Given the description of an element on the screen output the (x, y) to click on. 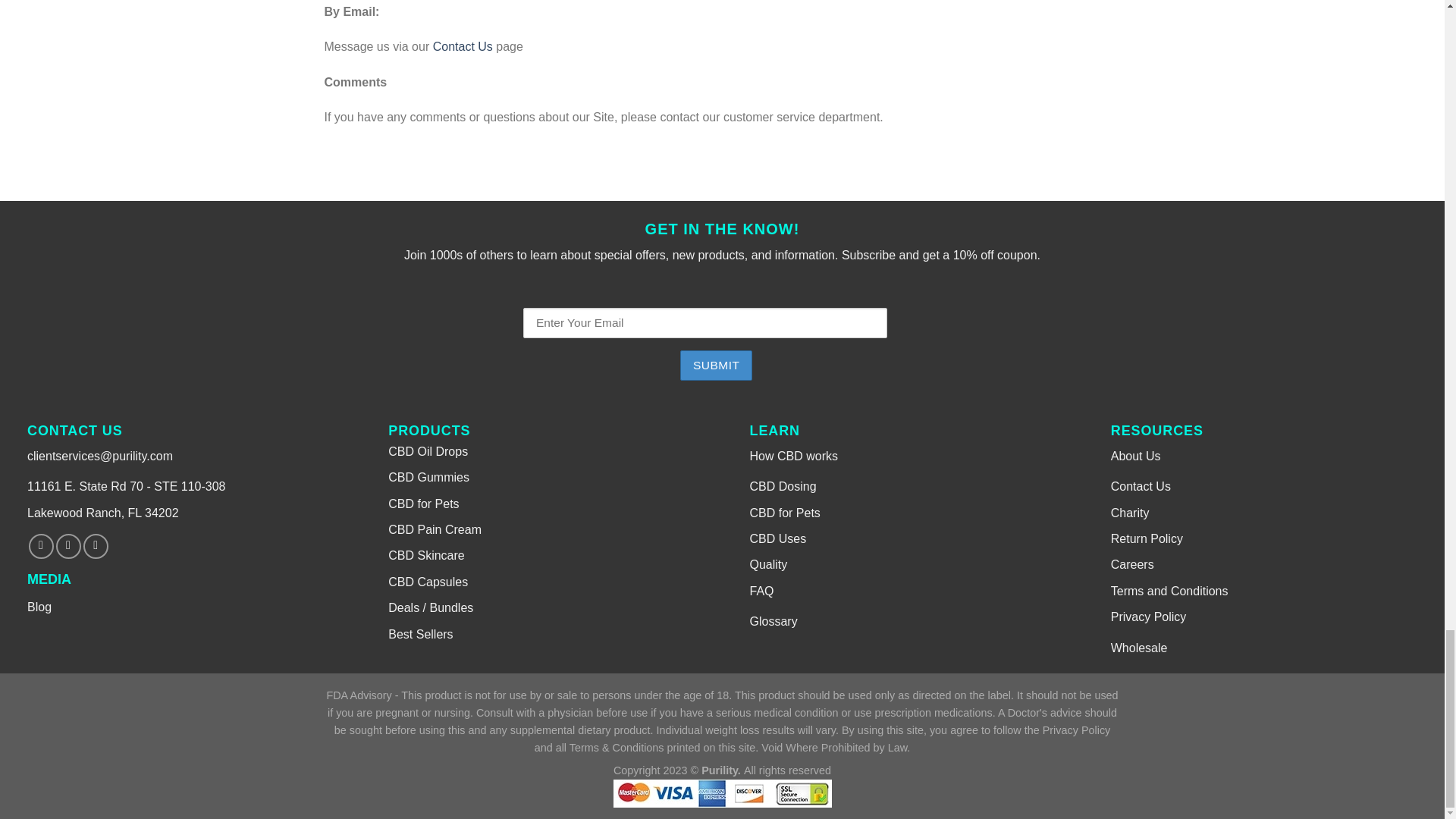
Submit (715, 365)
CBD Skincare (426, 554)
CBD Capsules (427, 581)
Blog (38, 606)
CBD Gummies (428, 477)
Best Sellers (420, 634)
Contact Us (462, 46)
CBD Oil Drops (427, 451)
Submit (715, 365)
CBD for Pets (423, 503)
CBD Pain Cream (434, 529)
